Given the description of an element on the screen output the (x, y) to click on. 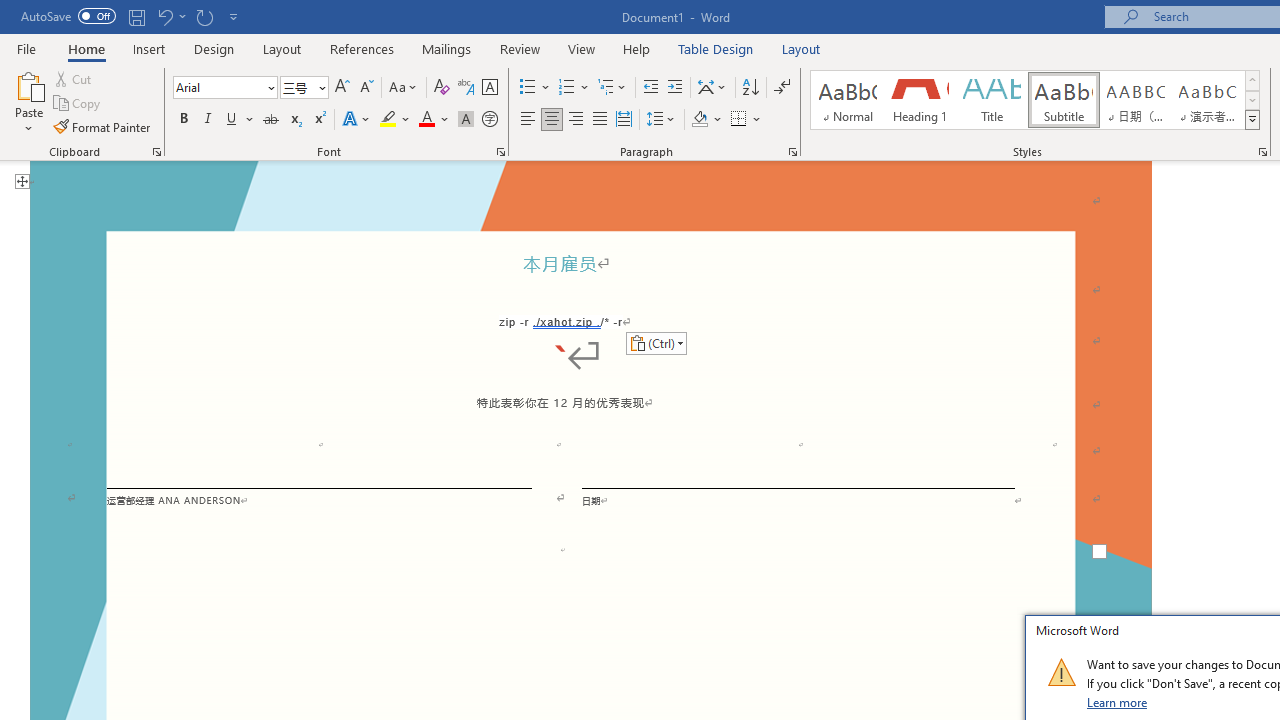
Action: Paste alternatives (656, 342)
